Given the description of an element on the screen output the (x, y) to click on. 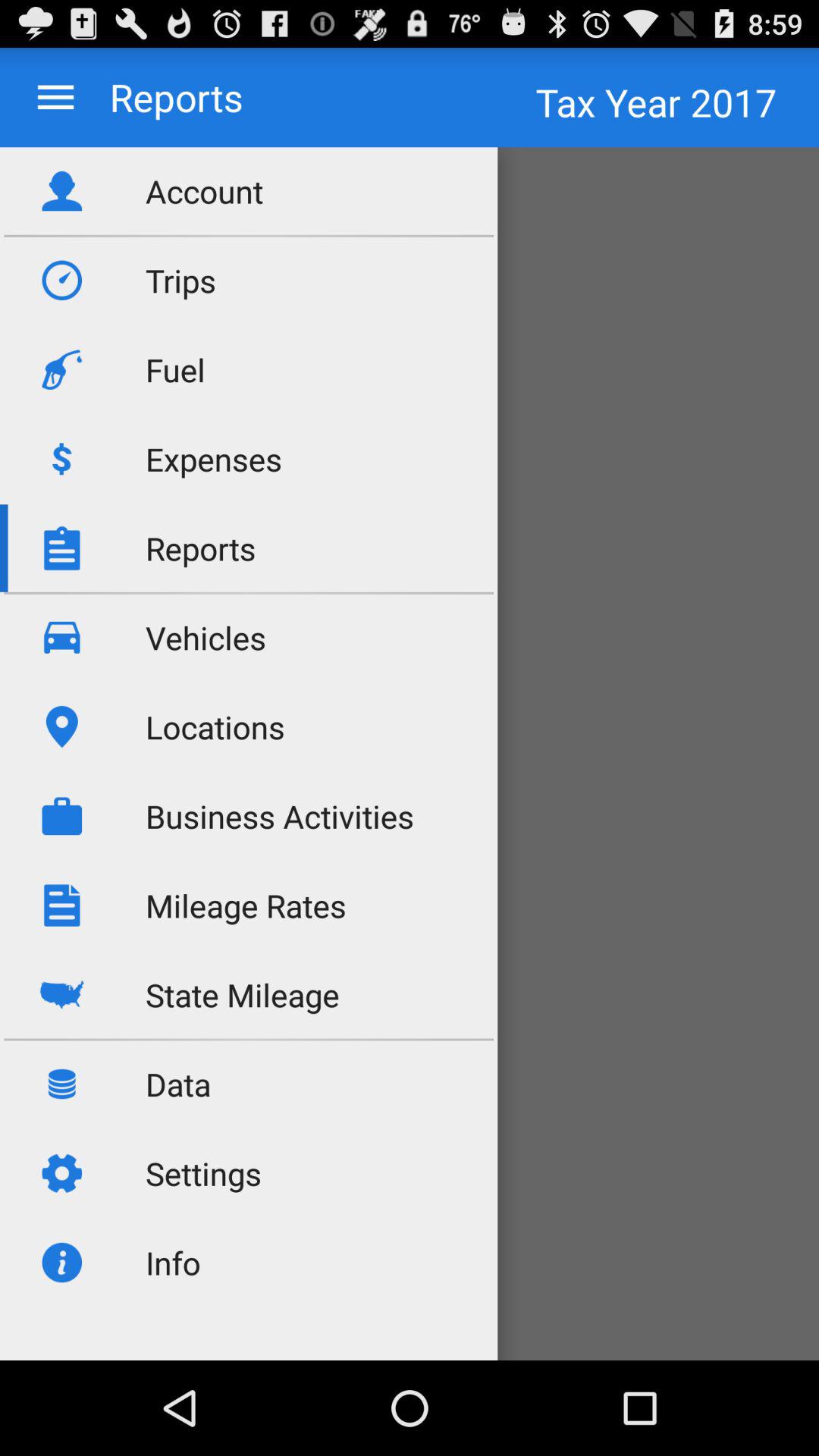
swipe until the business activities item (279, 815)
